Given the description of an element on the screen output the (x, y) to click on. 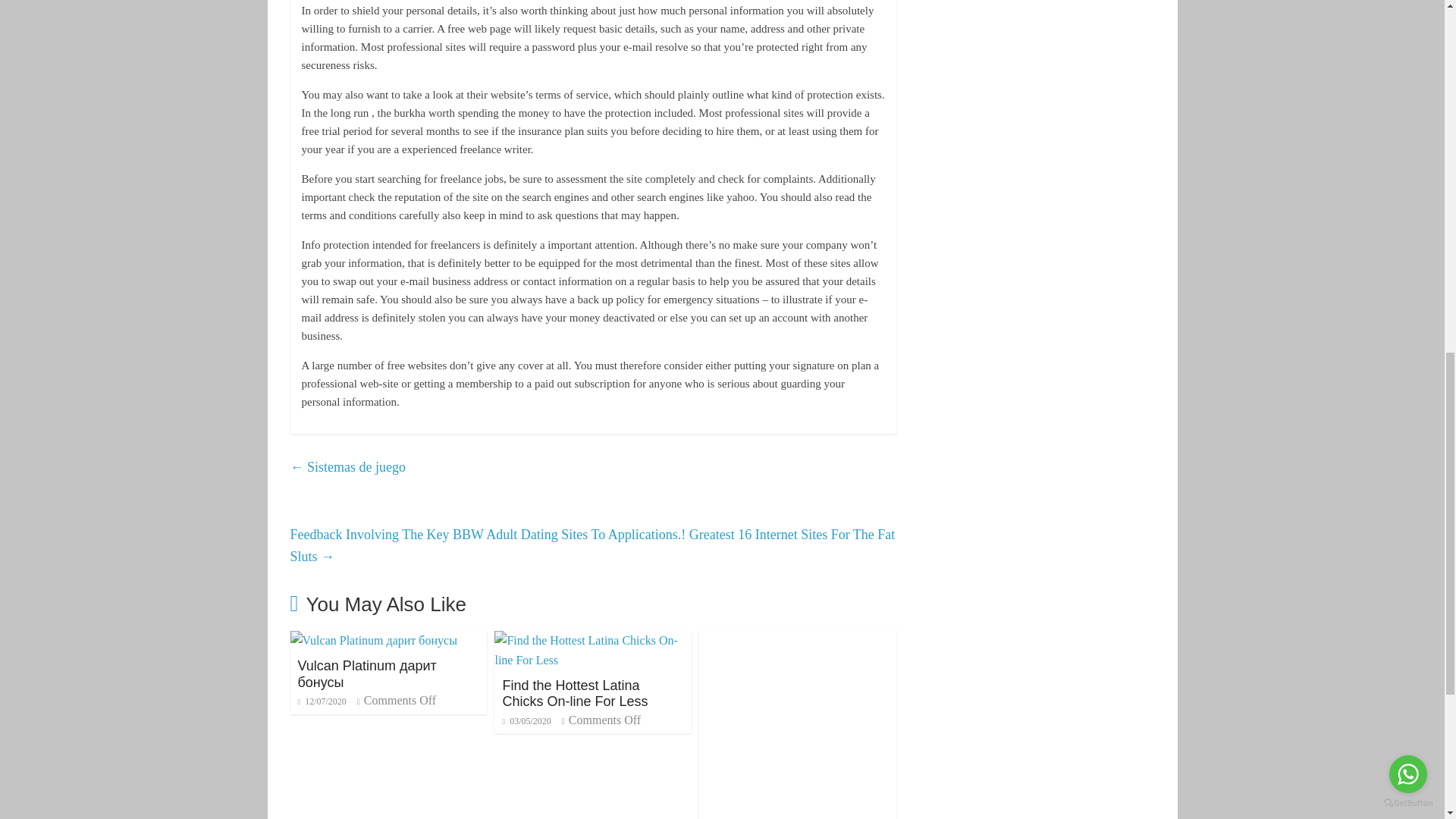
12:00 am (526, 720)
Find the Hottest Latina Chicks On-line For Less (574, 694)
9:55 pm (321, 701)
Find the Hottest Latina Chicks On-line For Less (574, 694)
Find the Hottest Latina Chicks On-line For Less (593, 640)
